Given the description of an element on the screen output the (x, y) to click on. 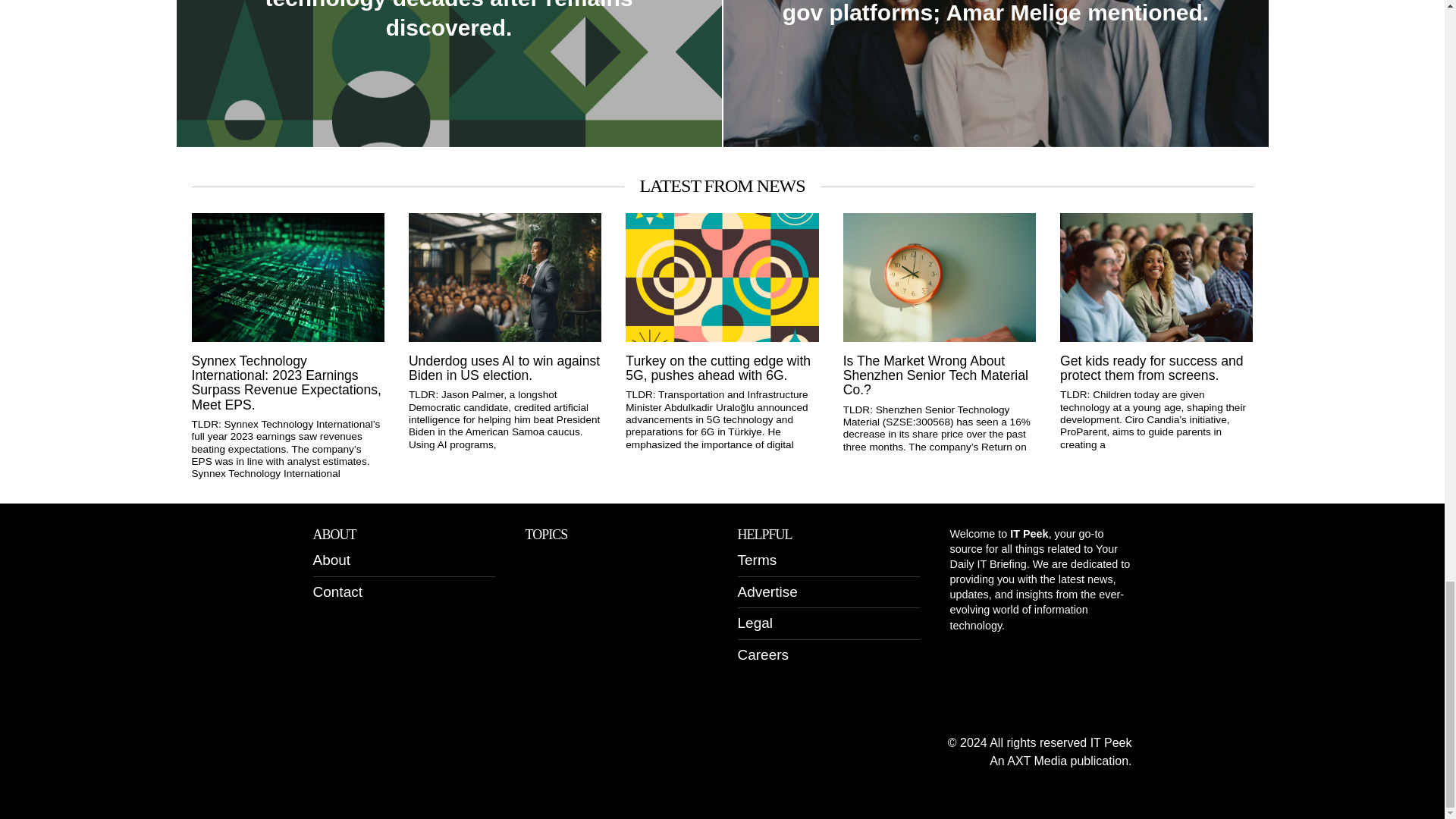
Legal (754, 622)
Turkey on the cutting edge with 5G, pushes ahead with 6G. (722, 368)
About (331, 560)
Advertise (766, 591)
Is The Market Wrong About Shenzhen Senior Tech Material Co.? (939, 375)
Contact (337, 591)
Underdog uses AI to win against Biden in US election. (505, 368)
Terms (756, 560)
Get kids ready for success and protect them from screens. (1155, 368)
